Given the description of an element on the screen output the (x, y) to click on. 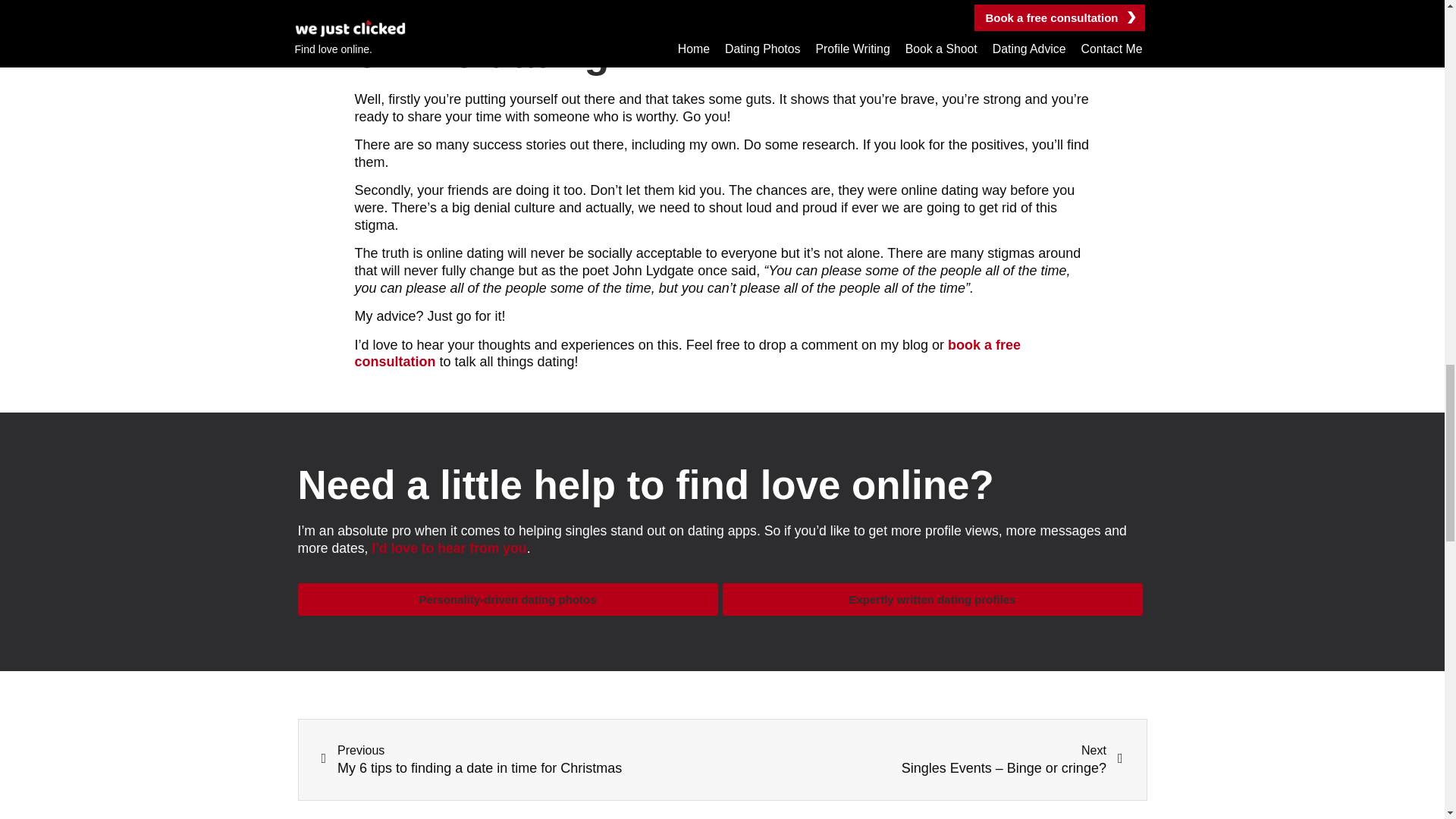
Discover our dating photography service (507, 599)
Contact us to get help with your online dating profile (448, 548)
Discover our dating profile writing service (931, 599)
Book a free no obligation online dating profile consultation (687, 352)
